Given the description of an element on the screen output the (x, y) to click on. 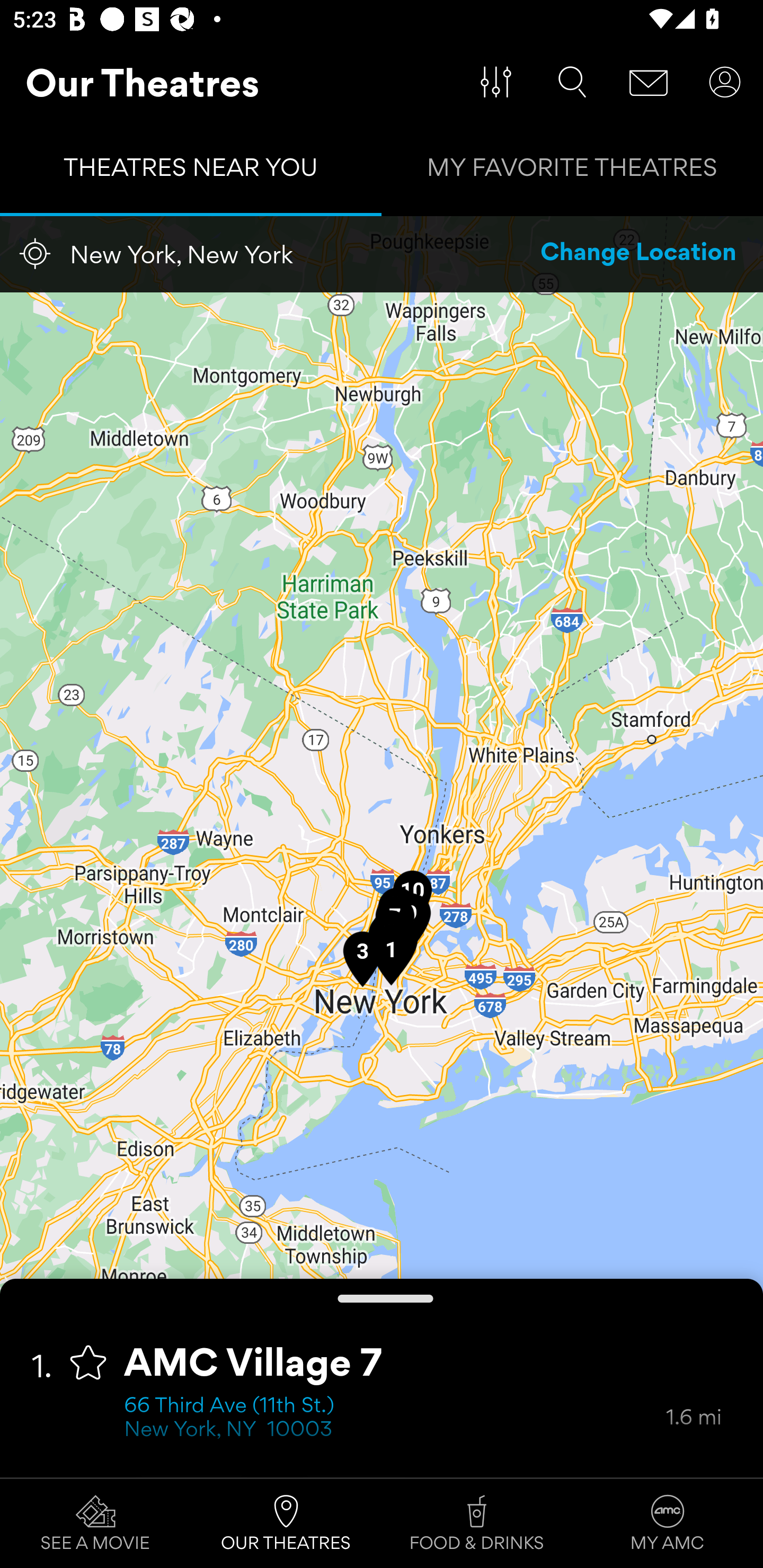
Filter Theatres (495, 82)
Search (572, 82)
Message Center (648, 82)
User Account (724, 82)
THEATRES NEAR YOU
Tab 1 of 2 (190, 171)
MY FAVORITE THEATRES
Tab 2 of 2 (572, 171)
Change Location (639, 253)
66 Third Ave (11th St.)  
New York, NY  10003 (394, 1418)
SEE A MOVIE
Tab 1 of 4 (95, 1523)
OUR THEATRES
Tab 2 of 4 (285, 1523)
FOOD & DRINKS
Tab 3 of 4 (476, 1523)
MY AMC
Tab 4 of 4 (667, 1523)
